Given the description of an element on the screen output the (x, y) to click on. 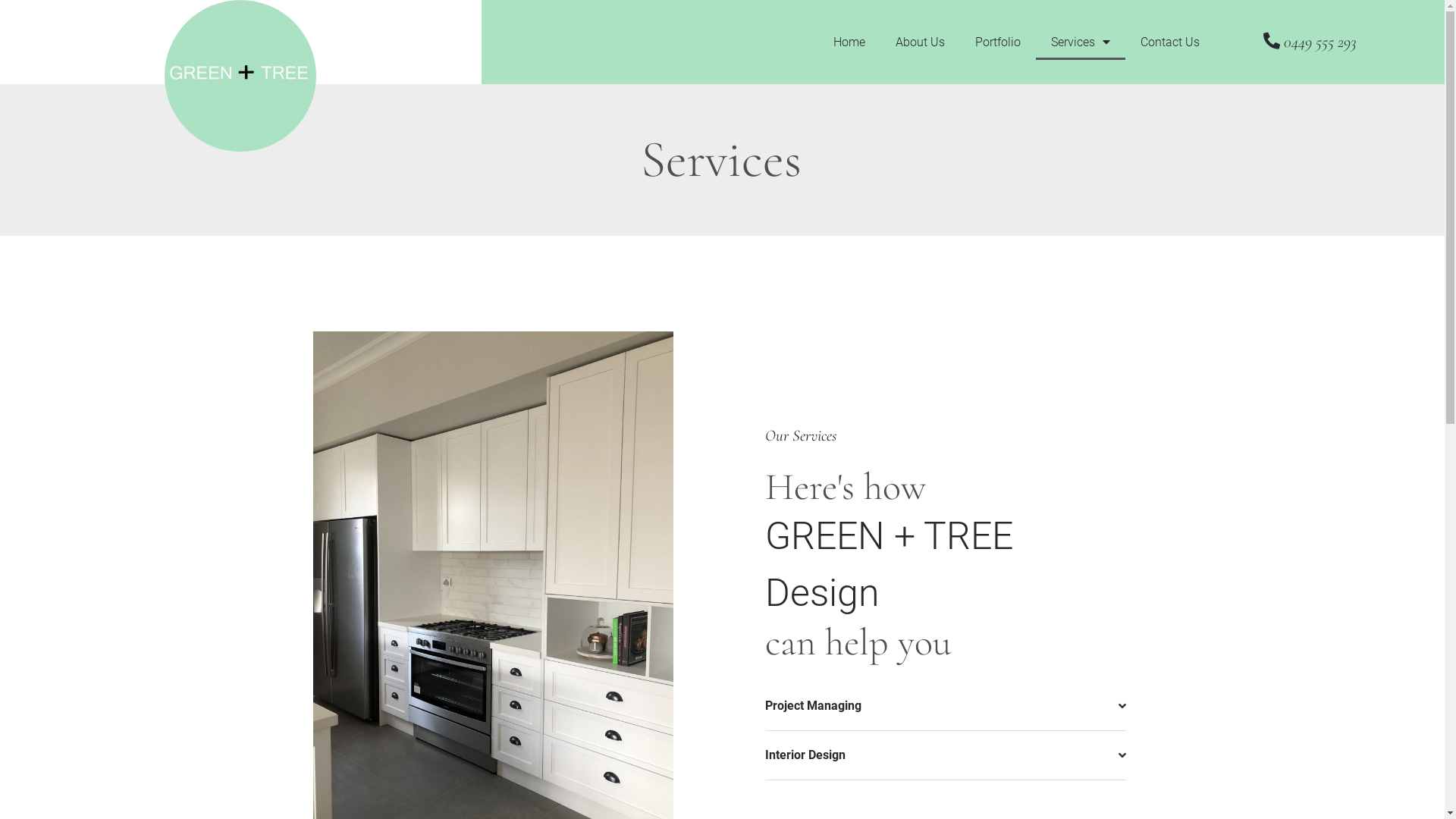
Portfolio Element type: text (997, 41)
GREENTREE-SIGN-2 Element type: hover (240, 75)
About Us Element type: text (920, 41)
0449 555 293 Element type: text (1309, 41)
Interior Design Element type: text (805, 754)
Project Managing Element type: text (813, 705)
Home Element type: text (849, 41)
Services Element type: text (1080, 41)
Contact Us Element type: text (1169, 41)
